Given the description of an element on the screen output the (x, y) to click on. 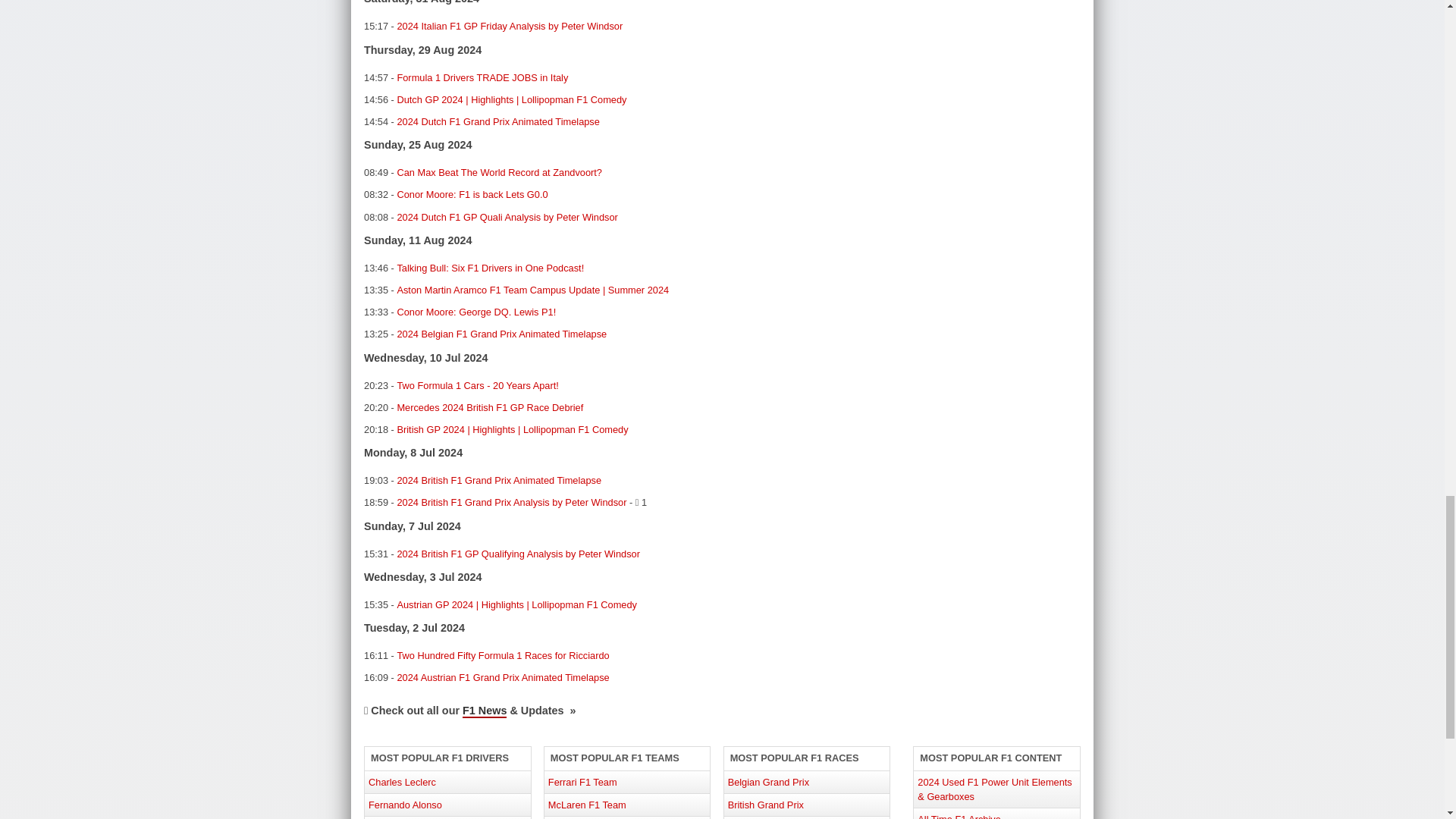
2024 Italian F1 GP Friday Analysis by Peter Windsor (509, 25)
Formula 1 Drivers TRADE JOBS in Italy (481, 77)
2024 Dutch F1 Grand Prix Animated Timelapse (497, 121)
Can Max Beat The World Record at Zandvoort? (499, 172)
